Given the description of an element on the screen output the (x, y) to click on. 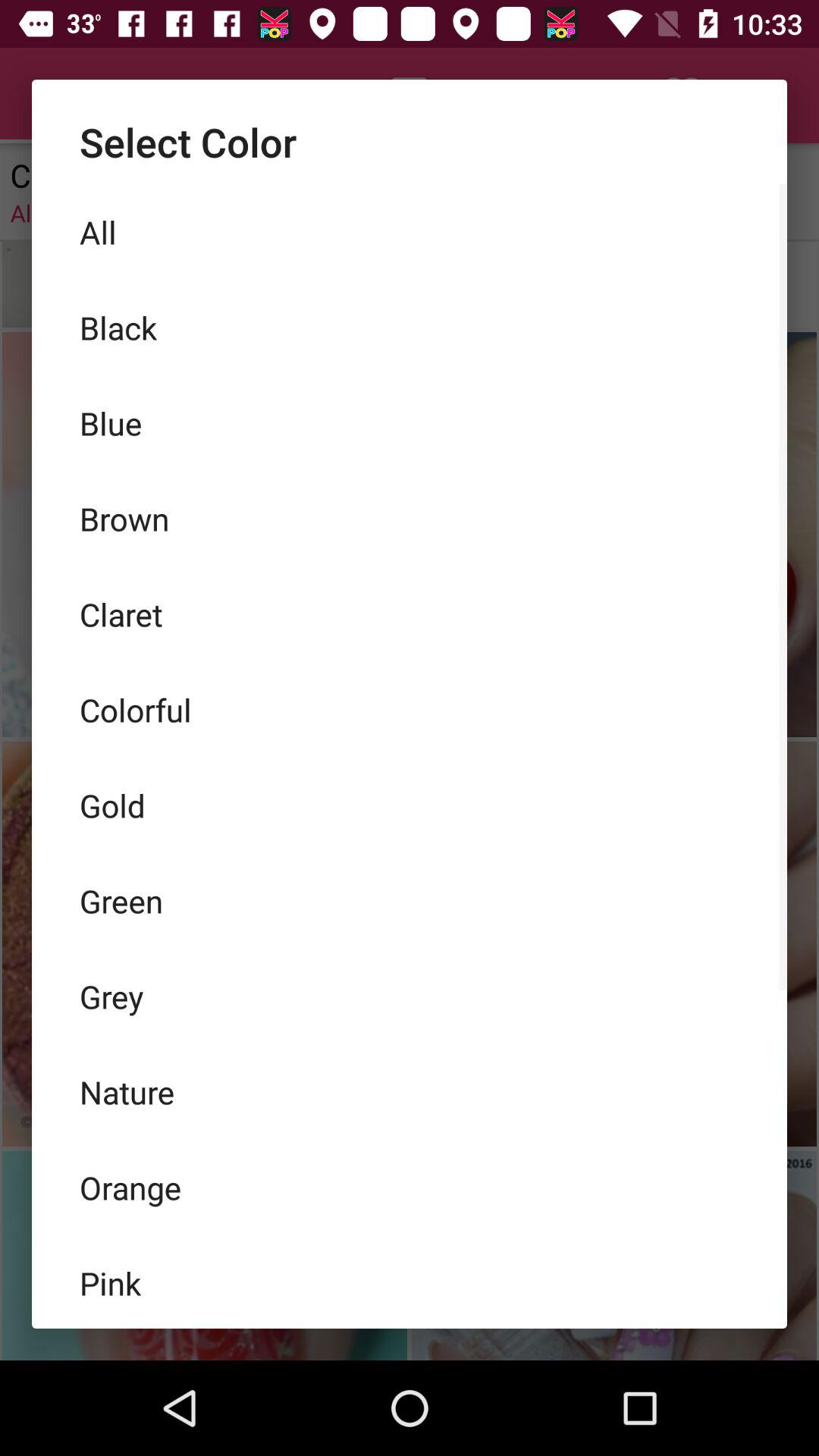
click the grey icon (409, 996)
